Given the description of an element on the screen output the (x, y) to click on. 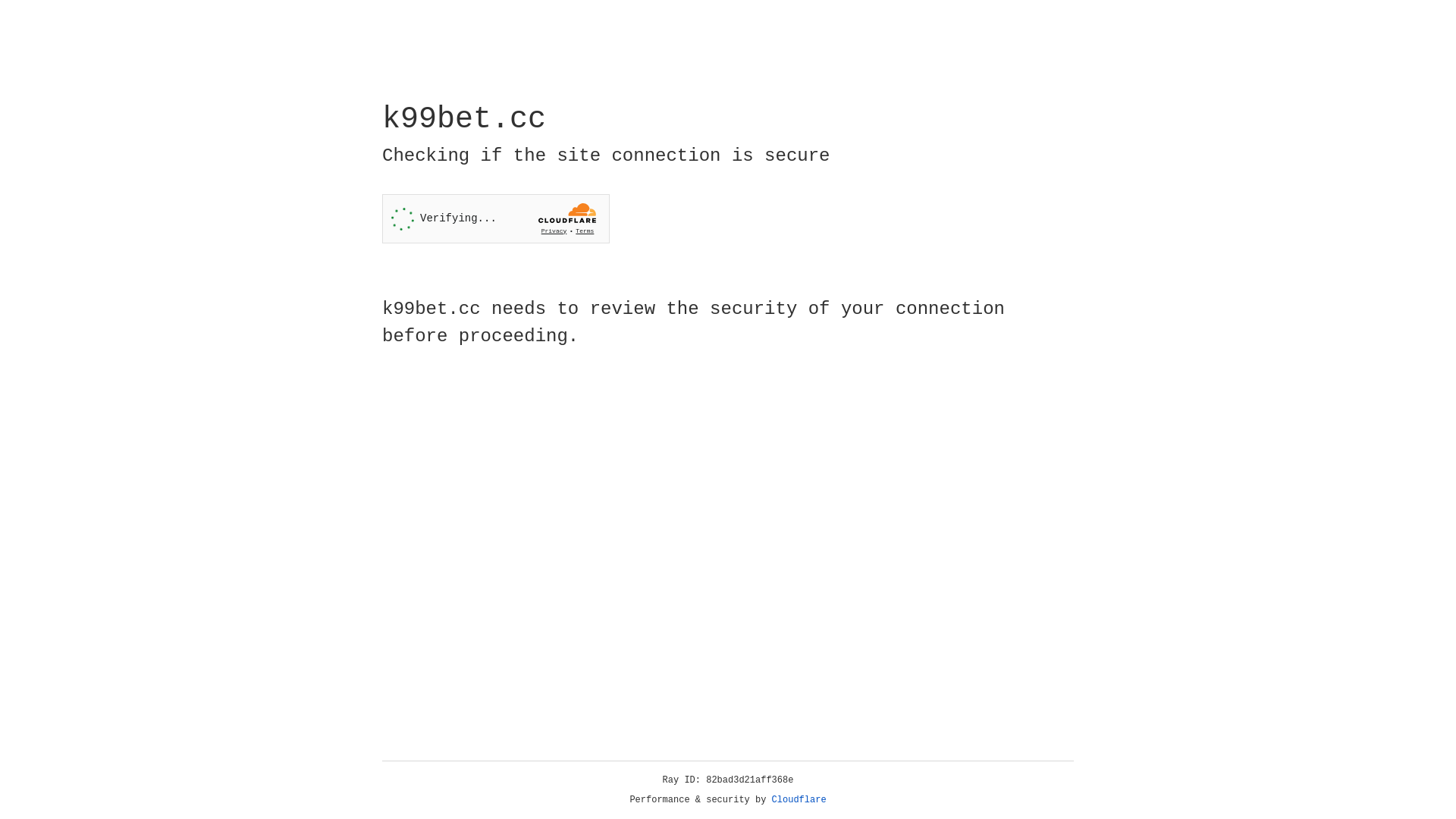
Widget containing a Cloudflare security challenge Element type: hover (495, 218)
Cloudflare Element type: text (798, 799)
